Given the description of an element on the screen output the (x, y) to click on. 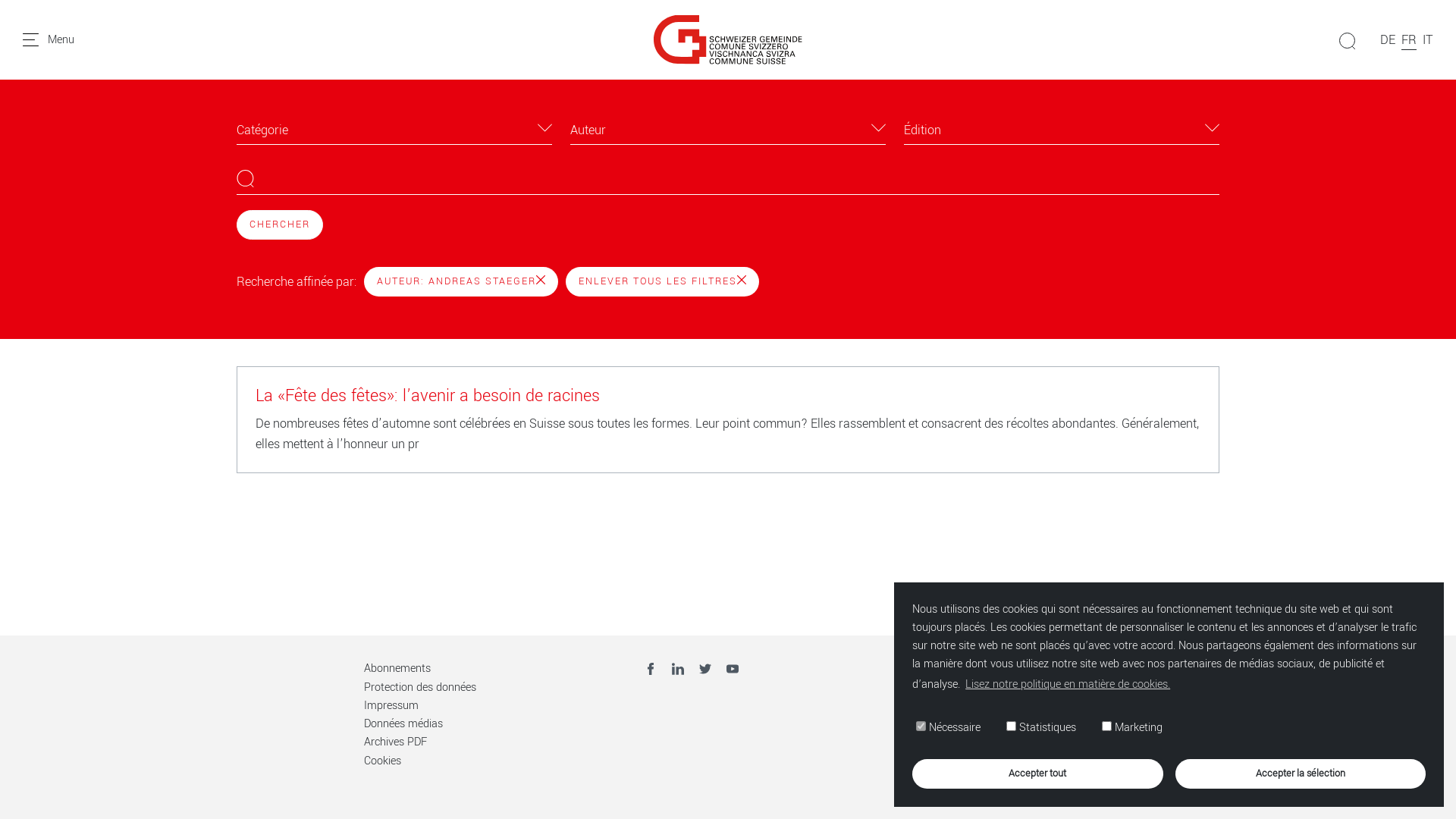
Abonnements Element type: text (397, 668)
Cookies Element type: text (382, 760)
Impressum Element type: text (391, 705)
Auteur Element type: text (727, 126)
DE Element type: text (1387, 39)
Accepter tout Element type: text (1037, 773)
Archives PDF Element type: text (395, 741)
Menu Element type: text (48, 39)
ENLEVER TOUS LES FILTRES Element type: text (662, 281)
CHERCHER Element type: text (279, 224)
AUTEUR: ANDREAS STAEGER Element type: text (461, 281)
IT Element type: text (1427, 39)
FR Element type: text (1408, 39)
Page d'accueil Element type: hover (727, 39)
